Given the description of an element on the screen output the (x, y) to click on. 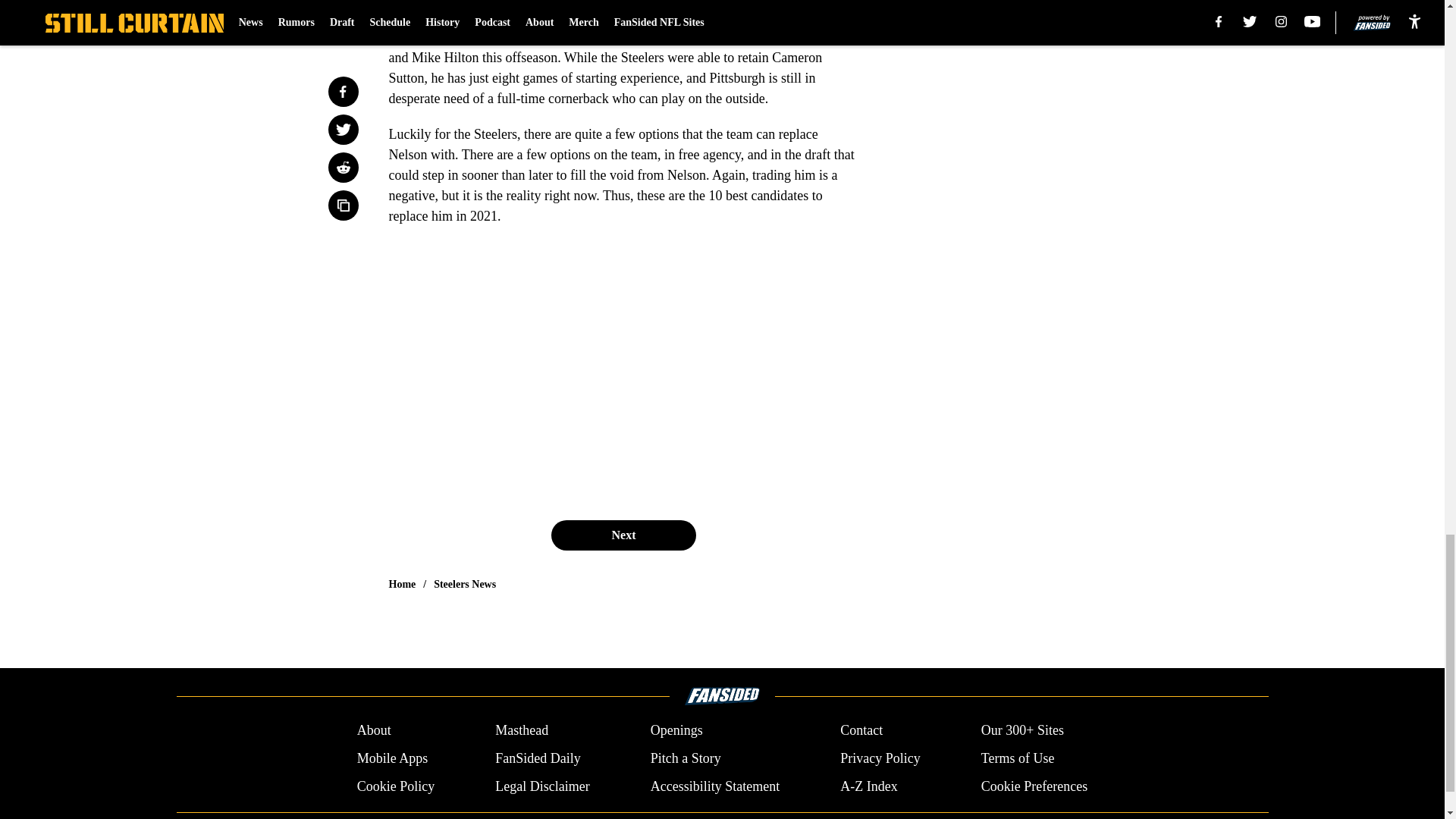
Contact (861, 730)
Openings (676, 730)
Masthead (521, 730)
Home (401, 584)
Next (622, 535)
About (373, 730)
Steelers News (464, 584)
